Given the description of an element on the screen output the (x, y) to click on. 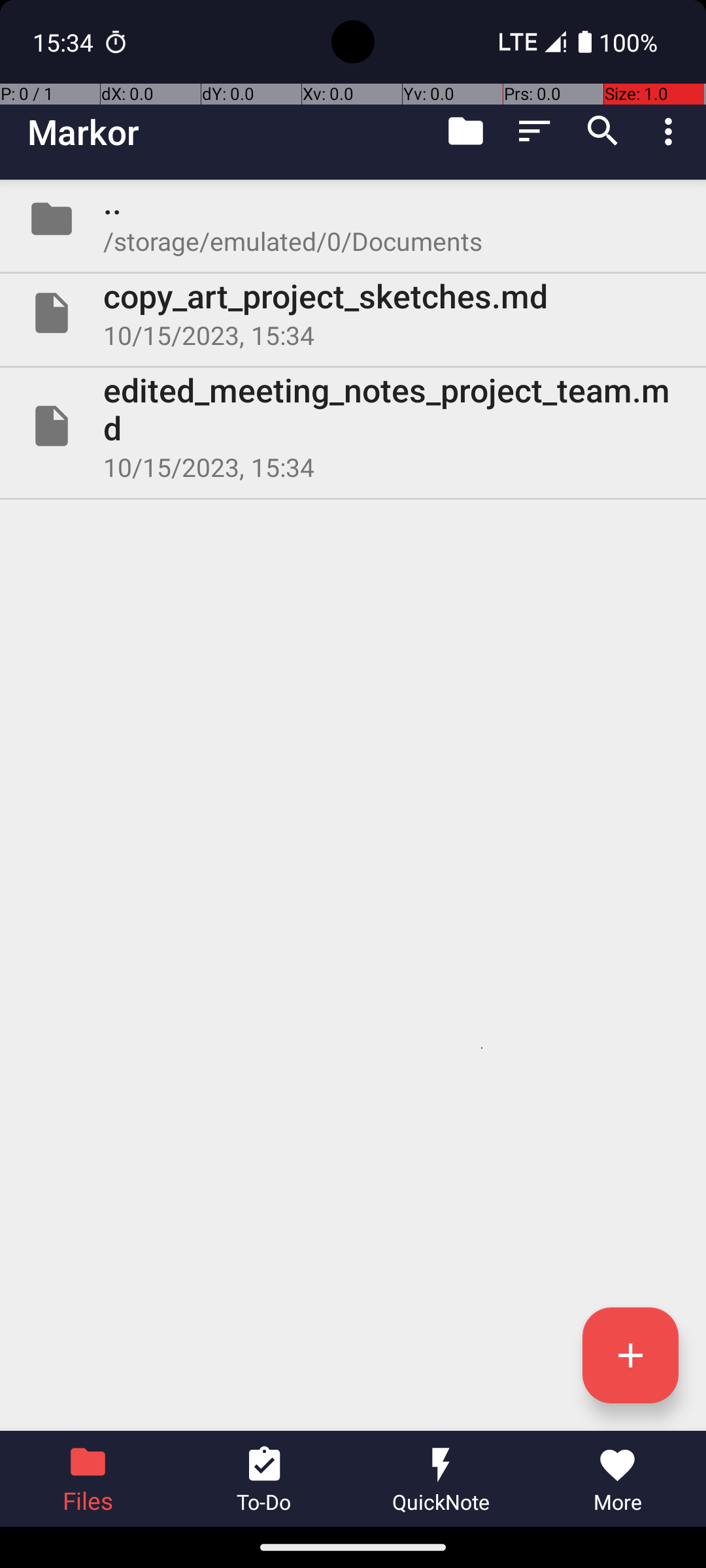
File copy_art_project_sketches.md  Element type: android.widget.LinearLayout (353, 312)
File edited_meeting_notes_project_team.md  Element type: android.widget.LinearLayout (353, 425)
